Given the description of an element on the screen output the (x, y) to click on. 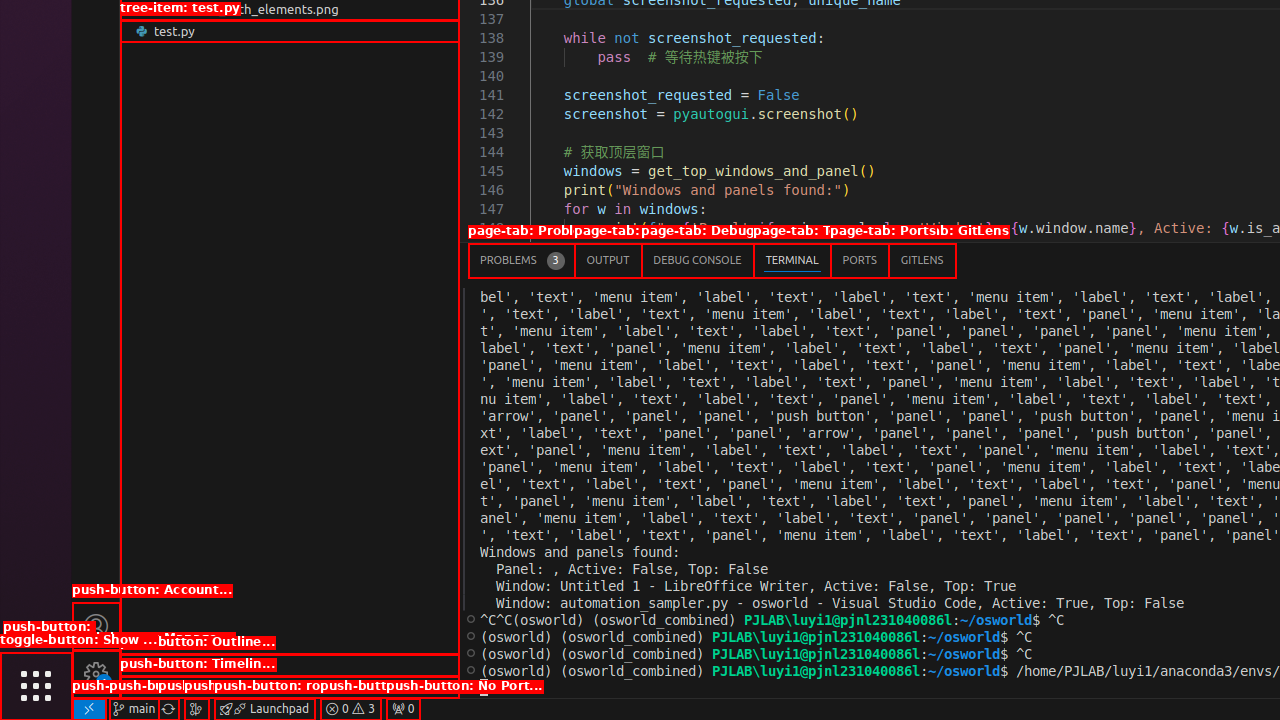
Manage - New Code update available. Element type: push-button (96, 674)
Output (Ctrl+K Ctrl+H) Element type: page-tab (608, 260)
remote Element type: push-button (89, 709)
Show the GitLens Commit Graph Element type: push-button (196, 709)
GitLens Element type: page-tab (922, 260)
